Given the description of an element on the screen output the (x, y) to click on. 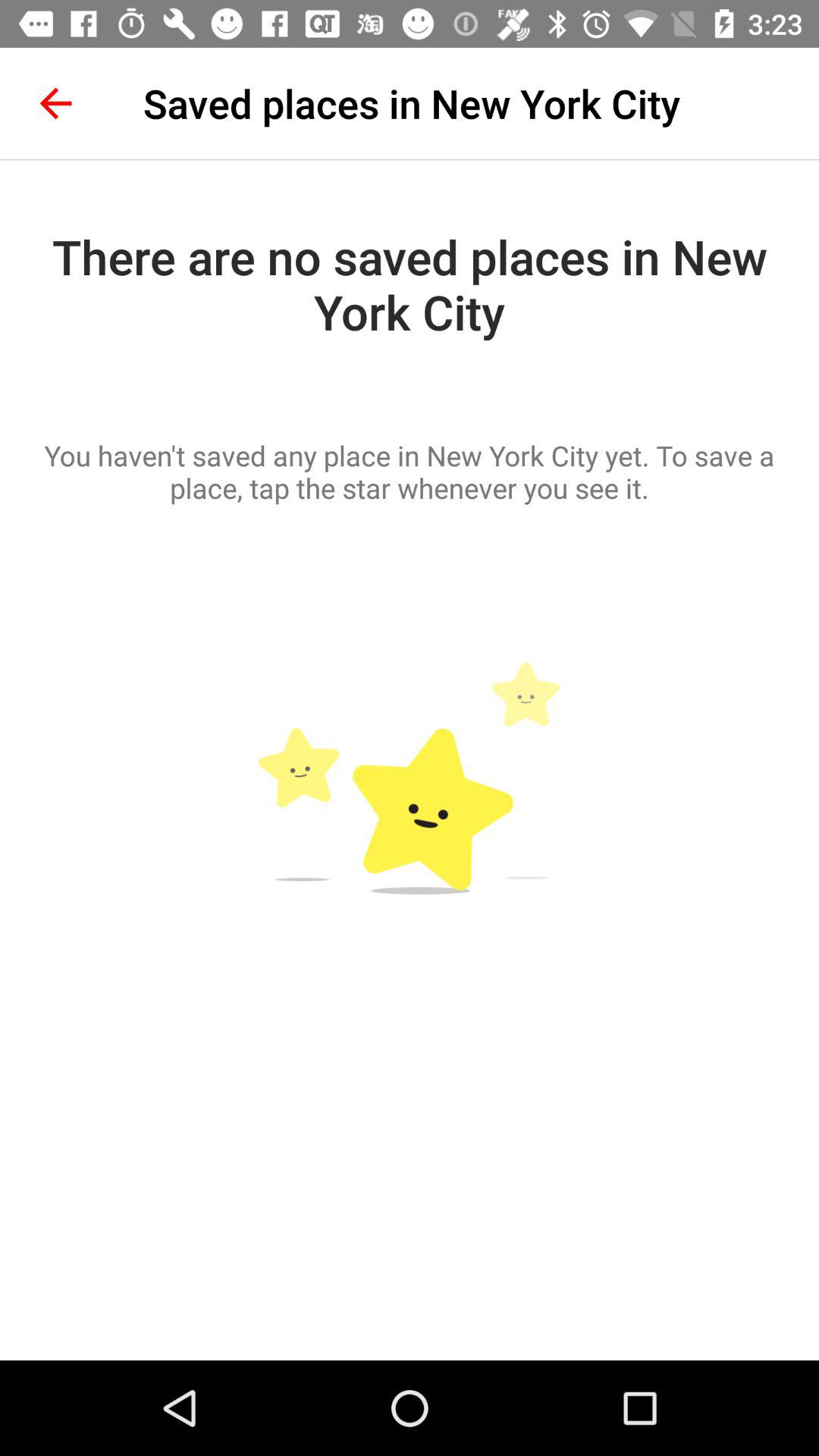
press icon next to saved places in (55, 103)
